Given the description of an element on the screen output the (x, y) to click on. 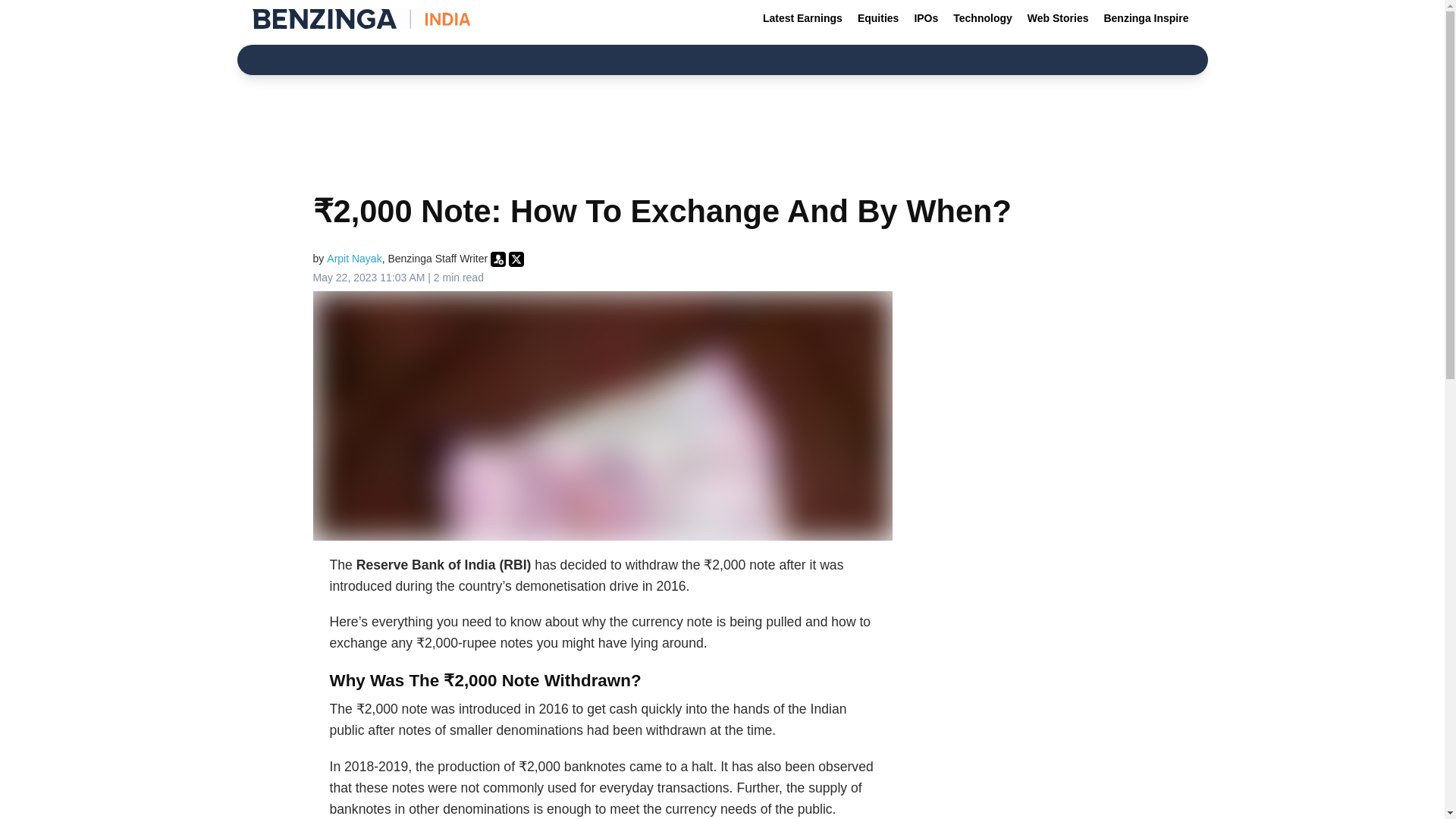
Latest Earnings (802, 18)
Equities (877, 18)
Arpit Nayak (353, 258)
Equities (877, 18)
Benzinga Inspire (1145, 18)
Web Stories (1058, 18)
Web Stories (1058, 18)
Benzinga Inspire (1145, 18)
Latest Earnings (802, 18)
IPOs (924, 18)
